Given the description of an element on the screen output the (x, y) to click on. 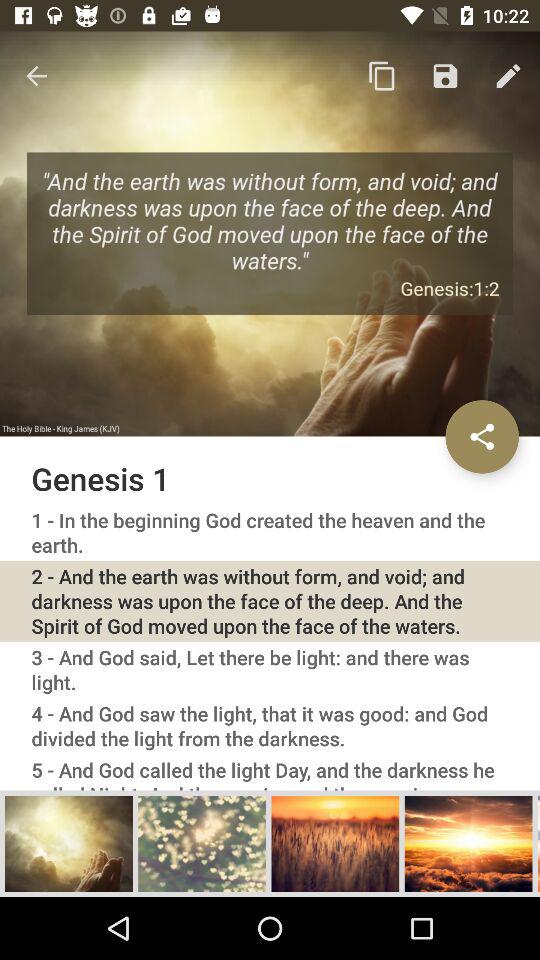
tap genesis 1 icon (269, 478)
